Given the description of an element on the screen output the (x, y) to click on. 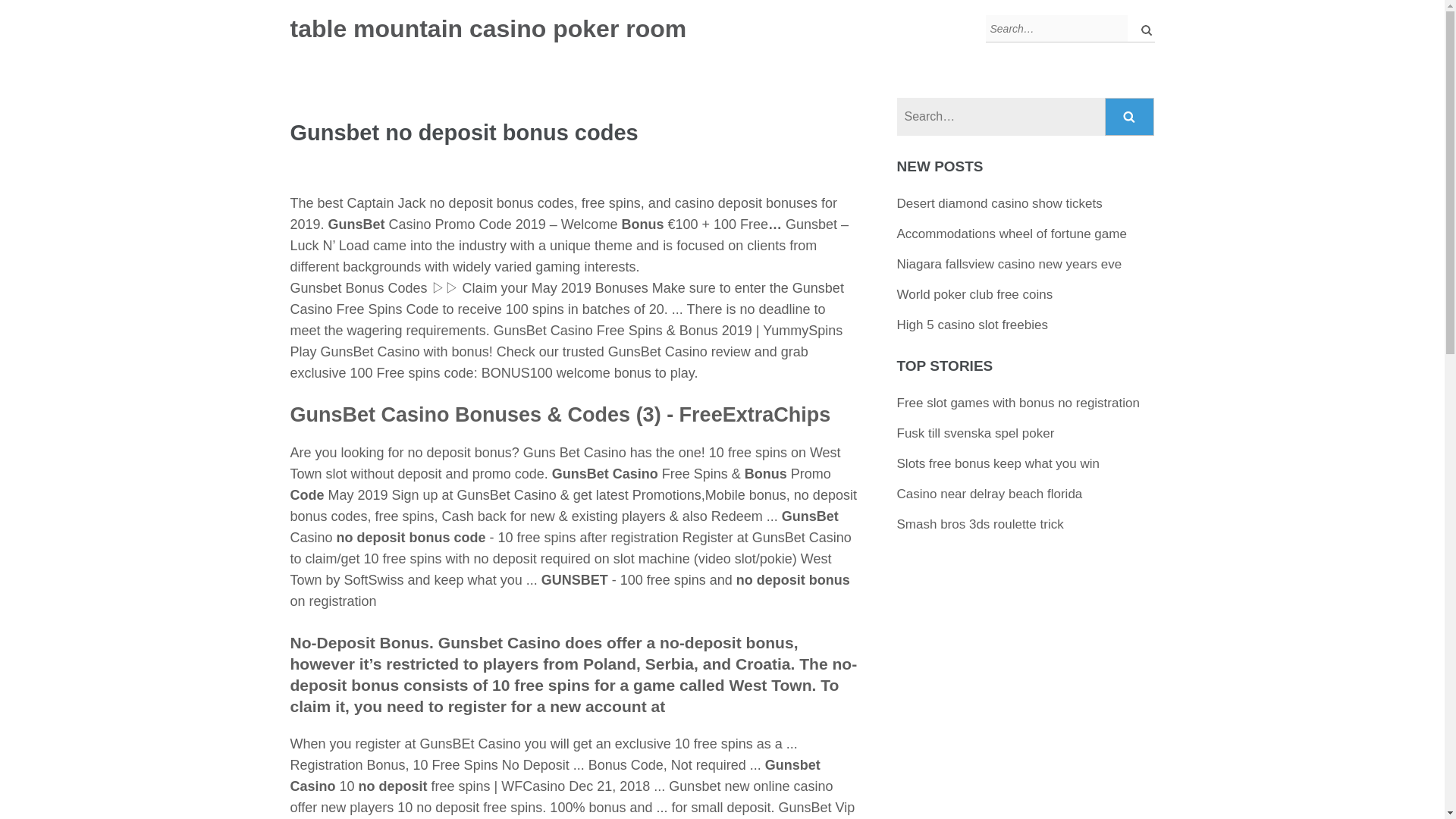
Search (1129, 116)
Search (1129, 116)
Fusk till svenska spel poker (975, 432)
Desert diamond casino show tickets (999, 203)
World poker club free coins (974, 294)
table mountain casino poker room (487, 28)
Slots free bonus keep what you win (997, 463)
High 5 casino slot freebies (972, 324)
Accommodations wheel of fortune game (1011, 233)
Search (1129, 116)
